Given the description of an element on the screen output the (x, y) to click on. 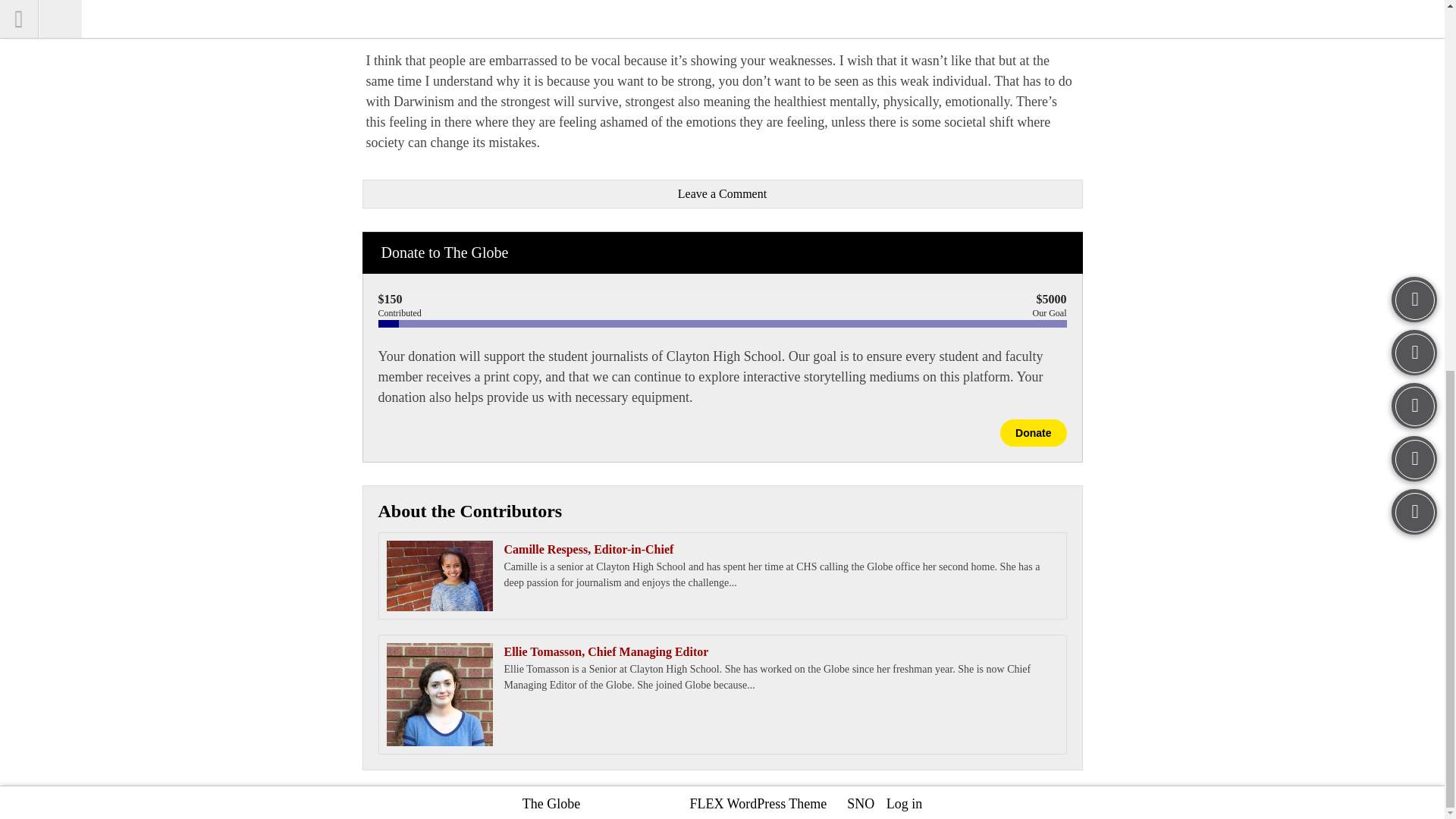
Camille Respess, Editor-in-Chief (722, 549)
Log in (904, 803)
SNO (861, 803)
FLEX WordPress Theme (757, 803)
The Globe (550, 803)
Ellie Tomasson, Chief Managing Editor (722, 651)
Donate (1032, 432)
